Given the description of an element on the screen output the (x, y) to click on. 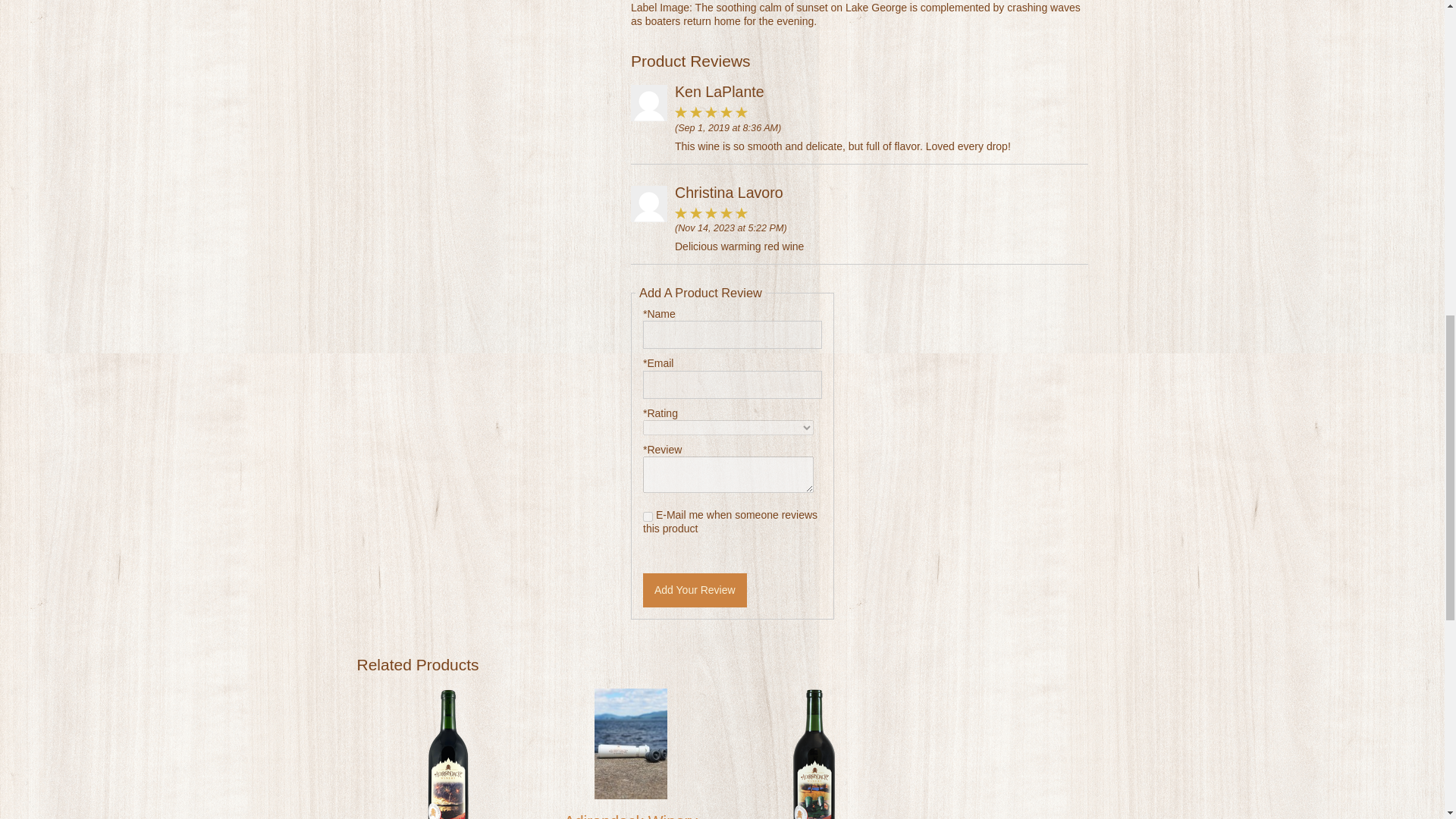
1 (647, 516)
